Given the description of an element on the screen output the (x, y) to click on. 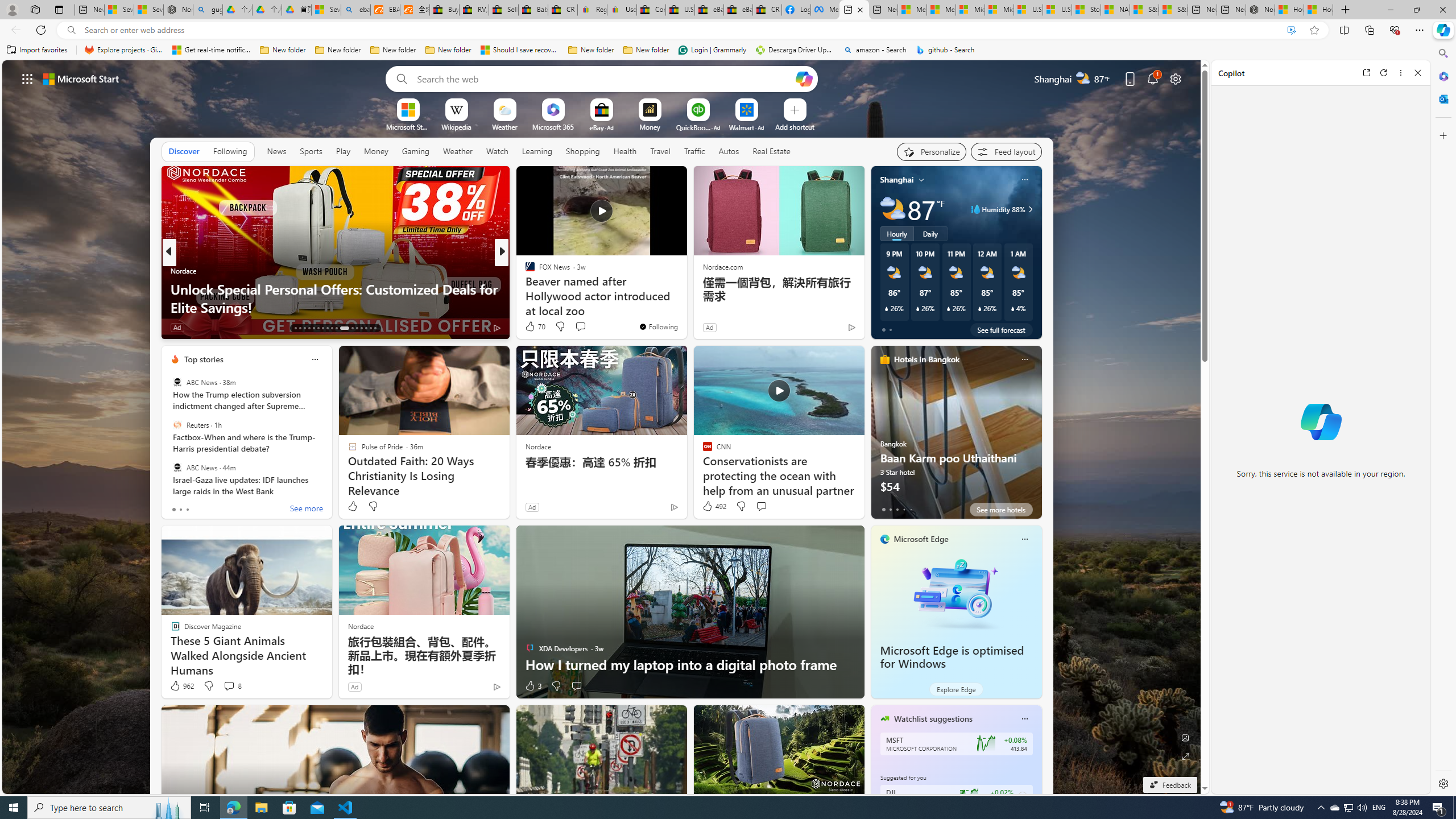
AutomationID: tab-18 (317, 328)
tab-1 (889, 509)
tab-2 (897, 509)
Customize (1442, 135)
ebay - Search (355, 9)
App bar (728, 29)
Login | Grammarly (712, 49)
Traffic (694, 151)
Outlook (1442, 98)
View comments 6 Comment (576, 327)
Weather (457, 151)
Open link in new tab (1366, 72)
